Given the description of an element on the screen output the (x, y) to click on. 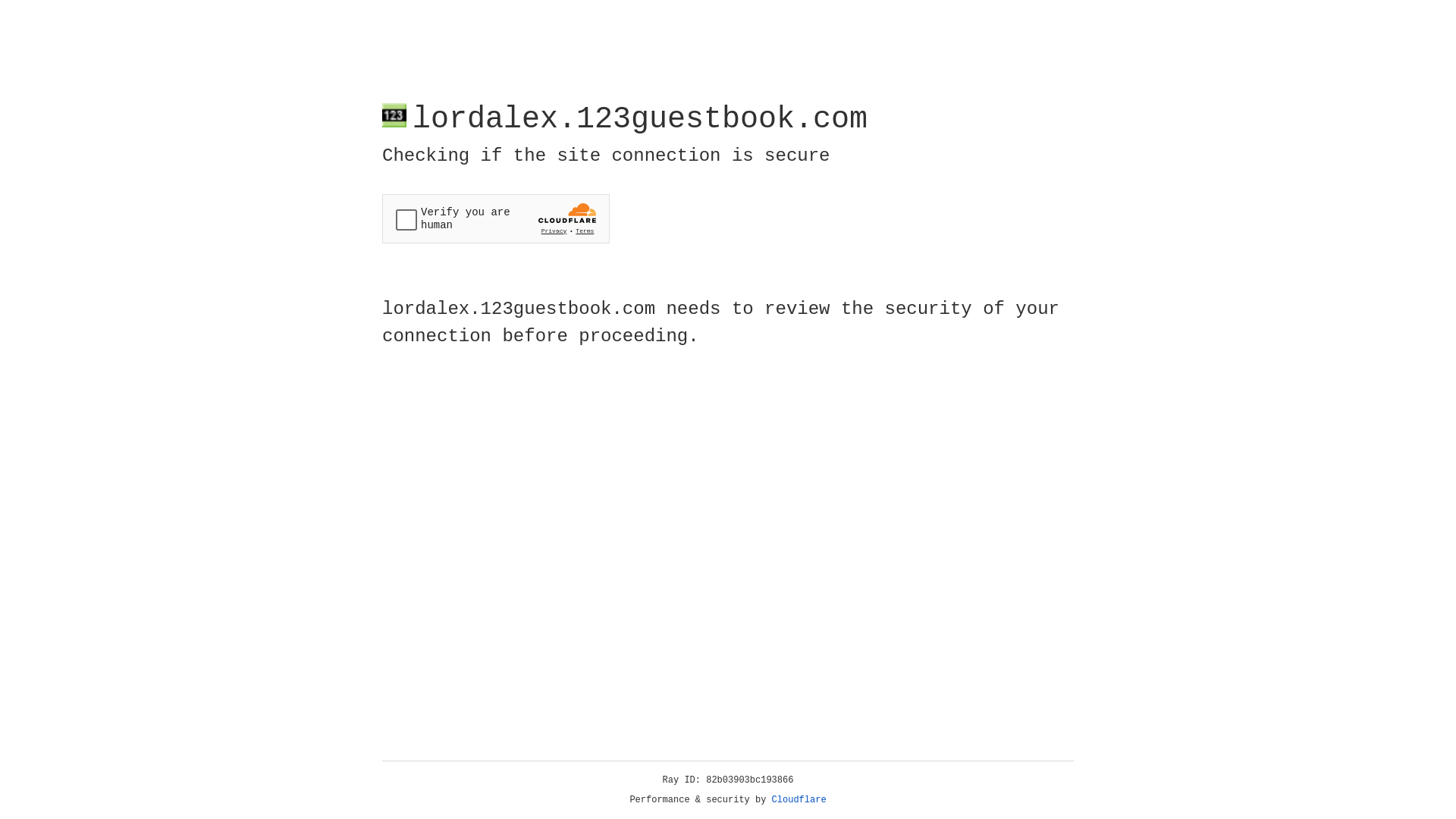
Widget containing a Cloudflare security challenge Element type: hover (495, 218)
Cloudflare Element type: text (798, 799)
